Given the description of an element on the screen output the (x, y) to click on. 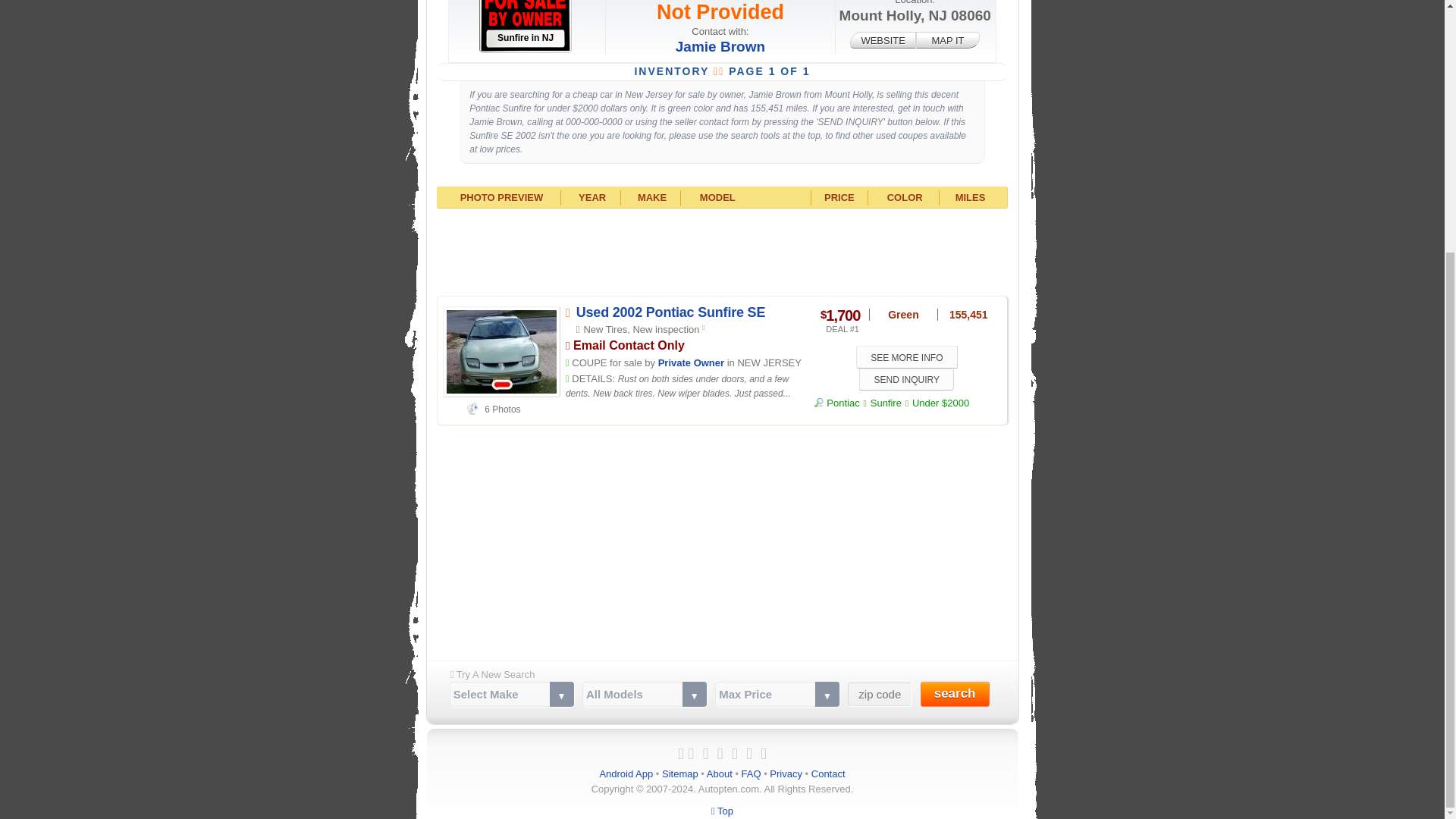
WEBSITE (882, 39)
Seller info (690, 362)
Browse all used Pontiac Sunfire available (885, 402)
SEE MORE INFO (907, 356)
search (955, 693)
This link is disabled (882, 39)
seller comments... (678, 386)
Advertisement (721, 539)
Private Owner (690, 362)
SEND INQUIRY (906, 379)
Used 2002 Pontiac Sunfire SE (670, 312)
Advertisement (721, 250)
Sunfire (885, 402)
Browse all Pontiac cars listed (836, 402)
MAP IT (947, 39)
